Given the description of an element on the screen output the (x, y) to click on. 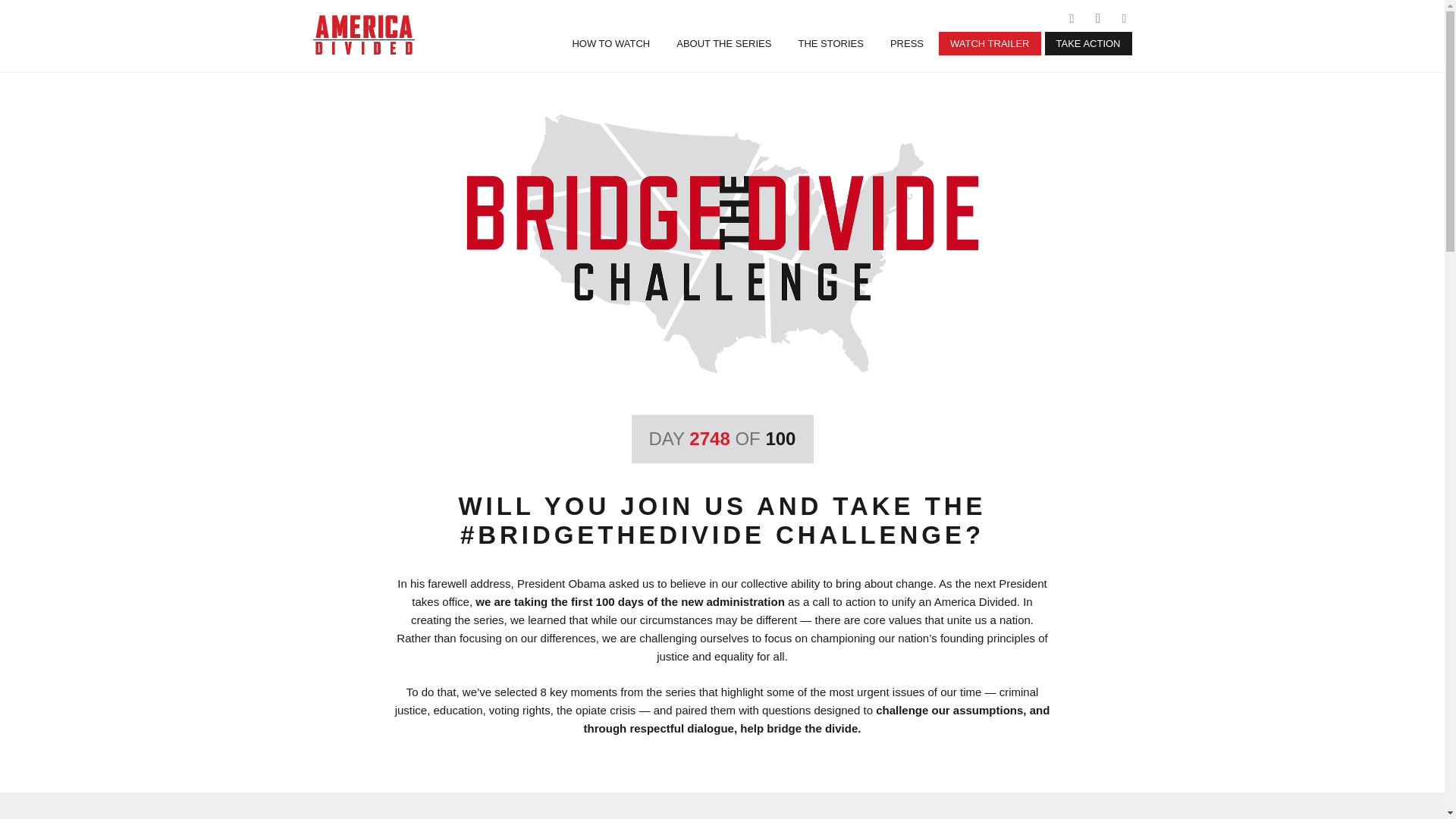
THE STORIES (830, 43)
ABOUT THE SERIES (724, 43)
WATCH TRAILER (990, 43)
HOW TO WATCH (610, 43)
PRESS (906, 43)
TAKE ACTION (1088, 43)
